Given the description of an element on the screen output the (x, y) to click on. 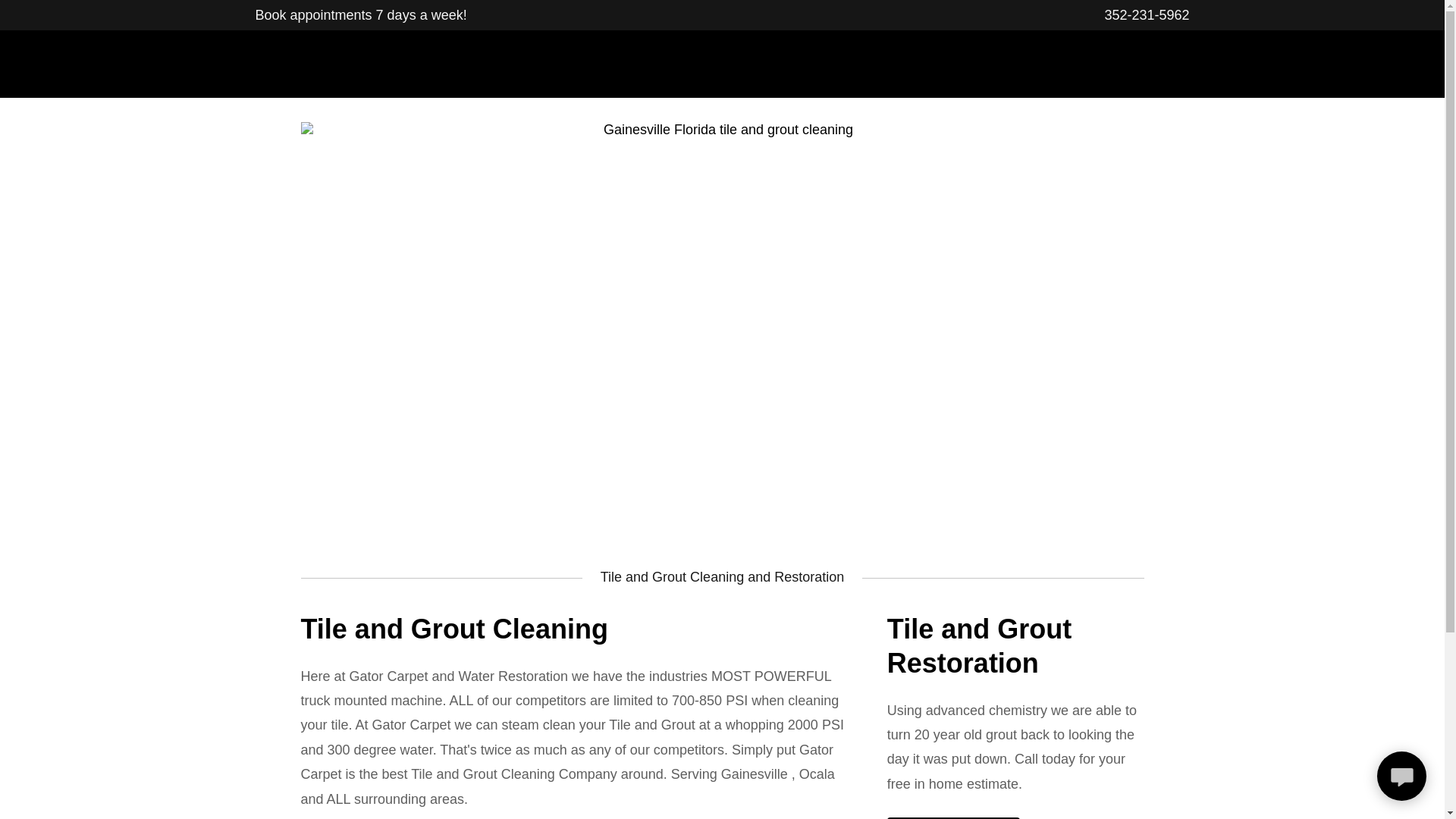
352-231-5962 (1146, 14)
Book appointments 7 days a week! (359, 15)
Call us now (953, 818)
